Given the description of an element on the screen output the (x, y) to click on. 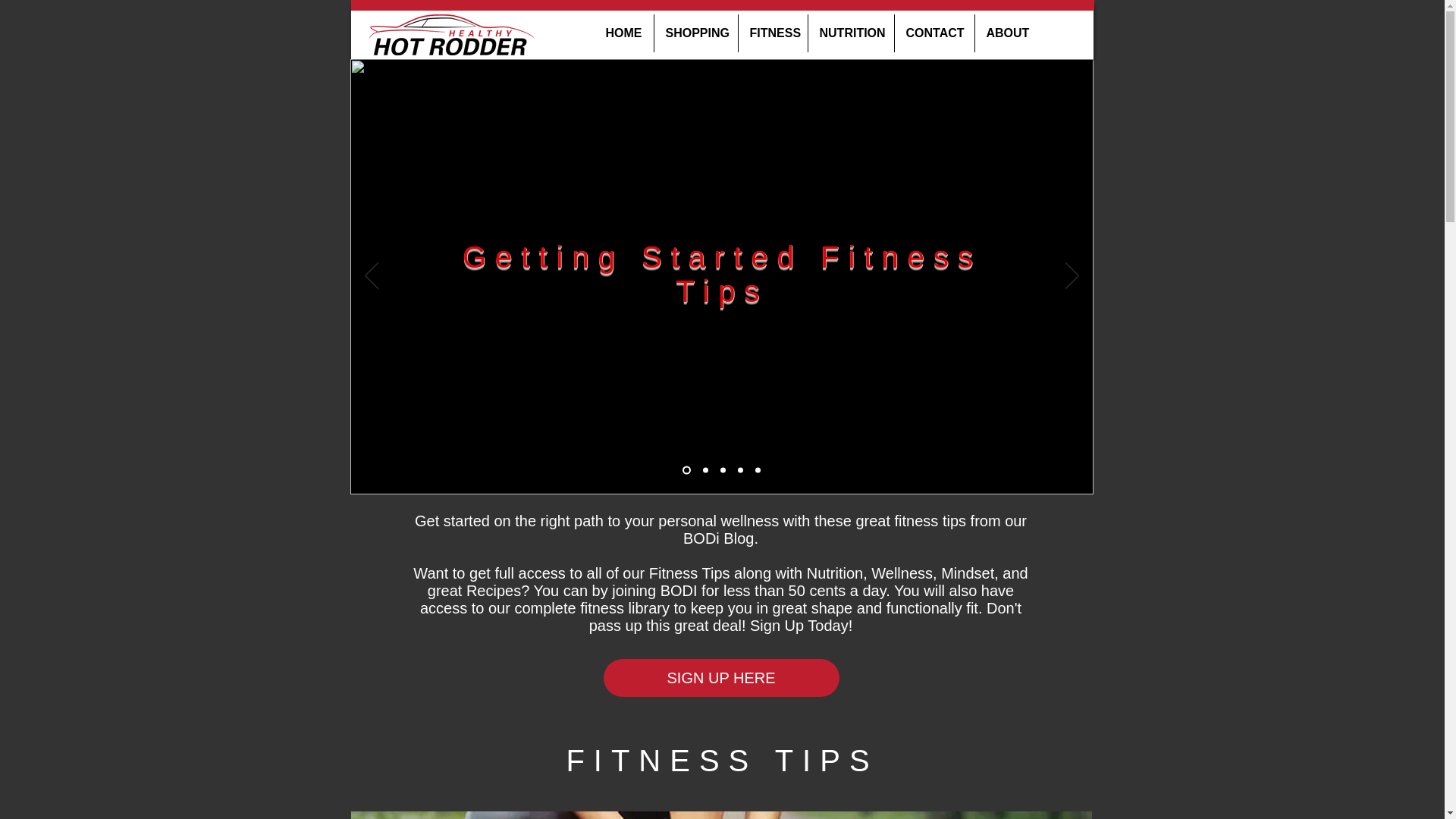
FITNESS (773, 33)
ABOUT (1007, 33)
HOME (623, 33)
NUTRITION (850, 33)
SHOPPING (694, 33)
FITNESS TIPS (721, 760)
Getting Started Fitness Tips (722, 273)
CONTACT (934, 33)
SIGN UP HERE (722, 677)
